Given the description of an element on the screen output the (x, y) to click on. 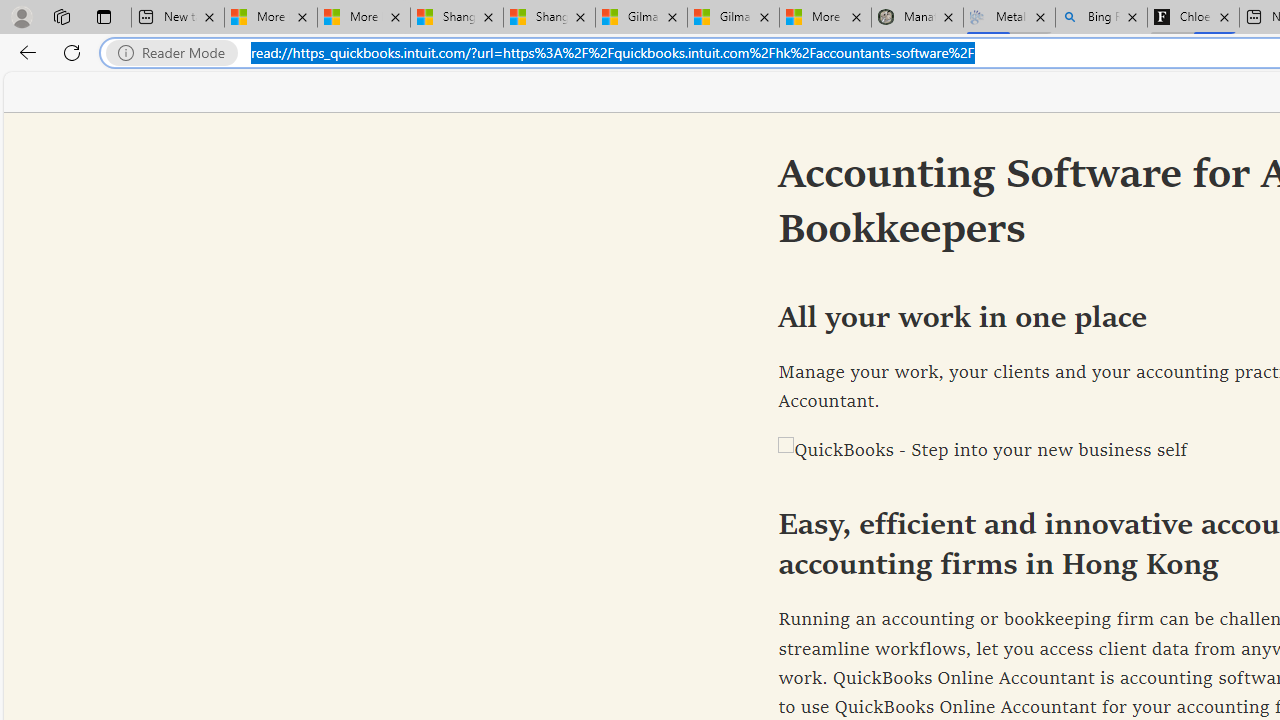
Chloe Sorvino (1193, 17)
